Given the description of an element on the screen output the (x, y) to click on. 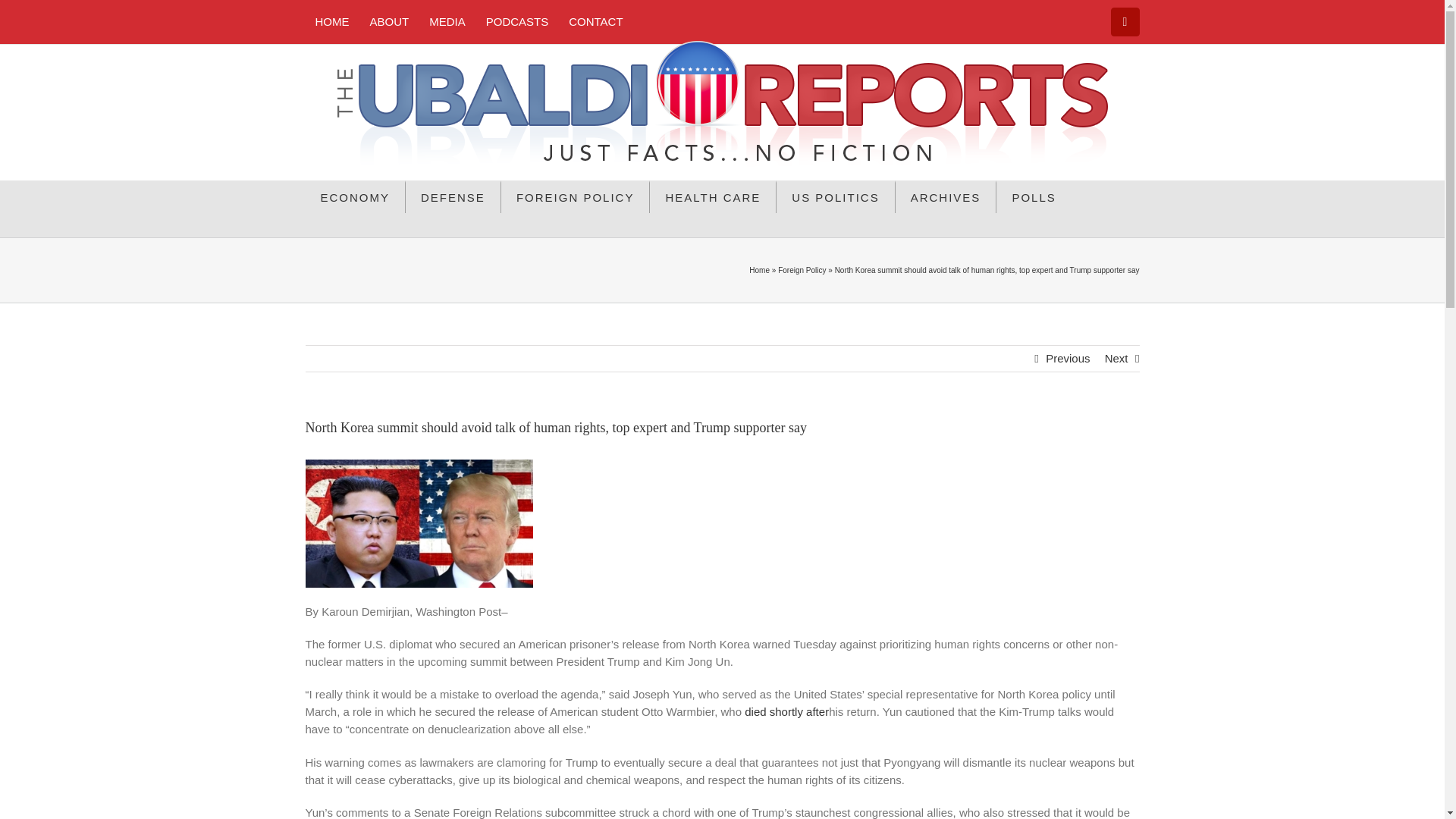
ABOUT (389, 21)
PODCASTS (517, 21)
US POLITICS (835, 196)
Facebook (1125, 21)
MEDIA (447, 21)
died shortly after (786, 711)
HOME (331, 21)
ARCHIVES (946, 196)
Facebook (1125, 21)
Next (1116, 358)
FOREIGN POLICY (575, 196)
ECONOMY (355, 196)
Foreign Policy (801, 270)
HEALTH CARE (712, 196)
Home (759, 270)
